Given the description of an element on the screen output the (x, y) to click on. 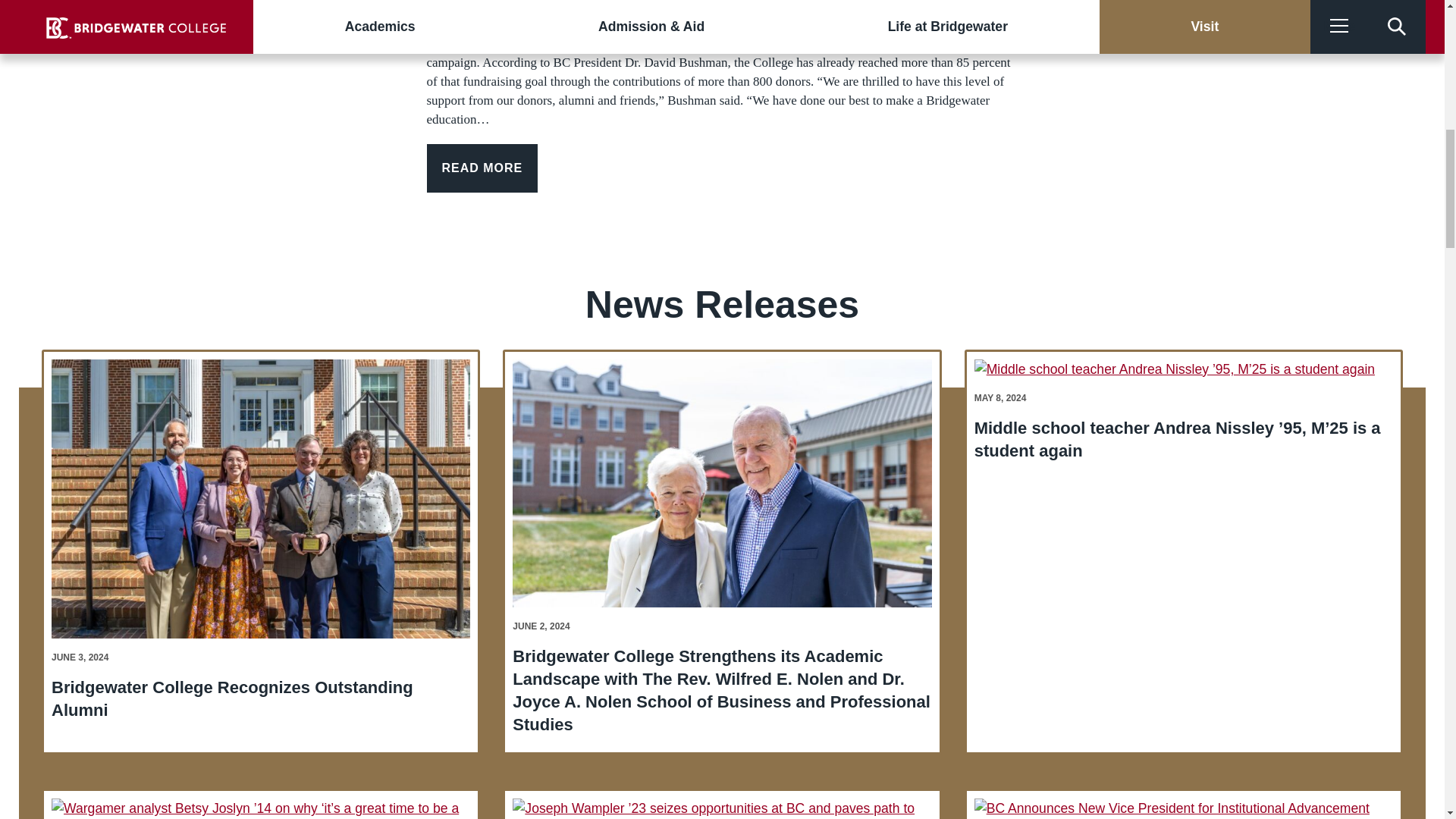
READ MORE (481, 168)
Alumni (1174, 367)
Bridgewater College Recognizes Outstanding Alumni (231, 698)
Alumni (261, 497)
Alumni (722, 481)
